Given the description of an element on the screen output the (x, y) to click on. 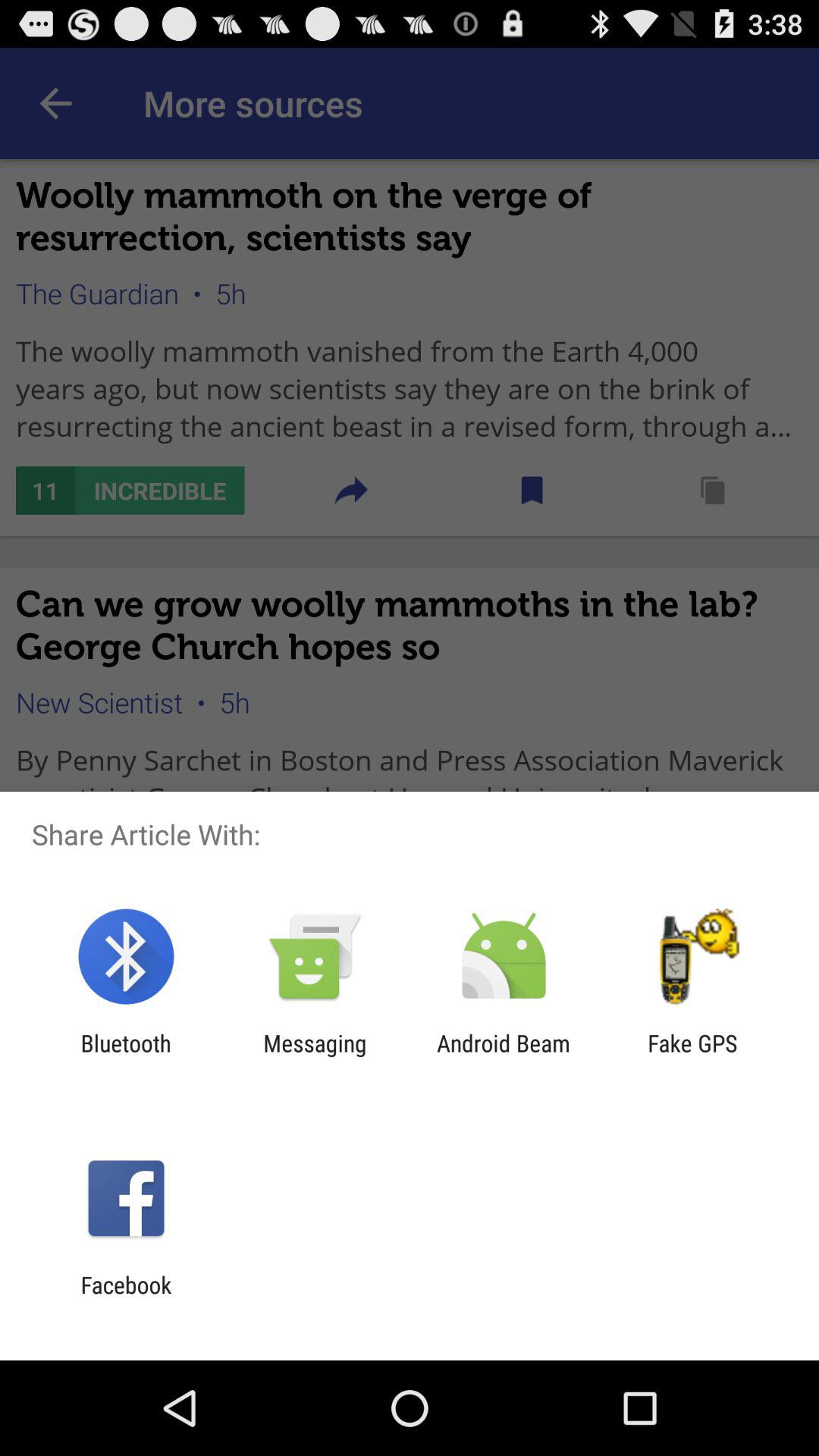
scroll until facebook item (125, 1298)
